Given the description of an element on the screen output the (x, y) to click on. 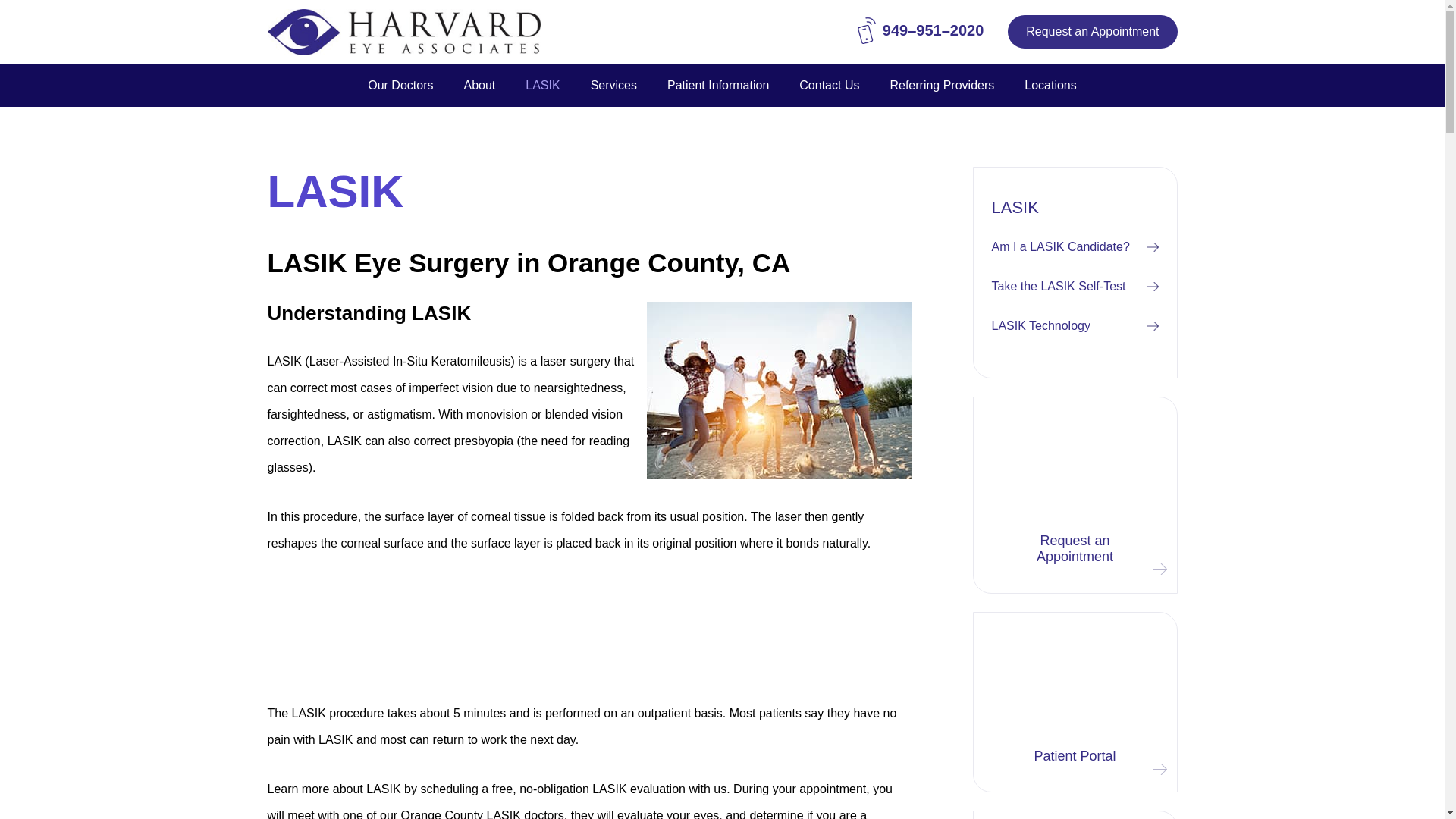
Click Here to Access Our Appointment Request Form (1091, 31)
Doctors (400, 85)
About (479, 85)
Request an Appointment (1091, 31)
Services (613, 85)
Harvard Eye Associates - Click Here for the Homepage (403, 32)
Our Doctors (400, 85)
LASIK (543, 85)
